Given the description of an element on the screen output the (x, y) to click on. 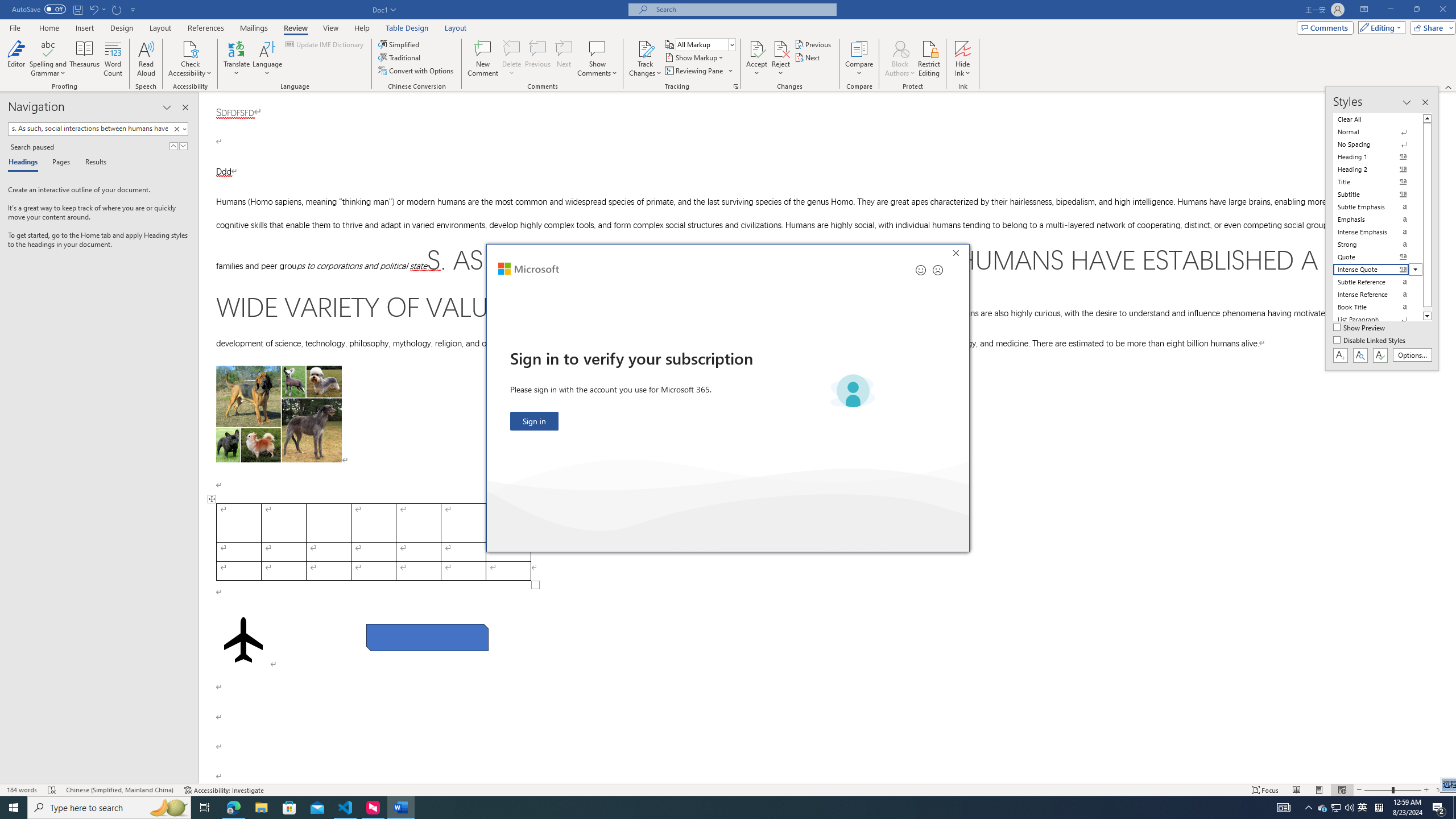
Disable Linked Styles (1370, 340)
Compare (859, 58)
File Explorer (261, 807)
Show Preview (1360, 328)
